Given the description of an element on the screen output the (x, y) to click on. 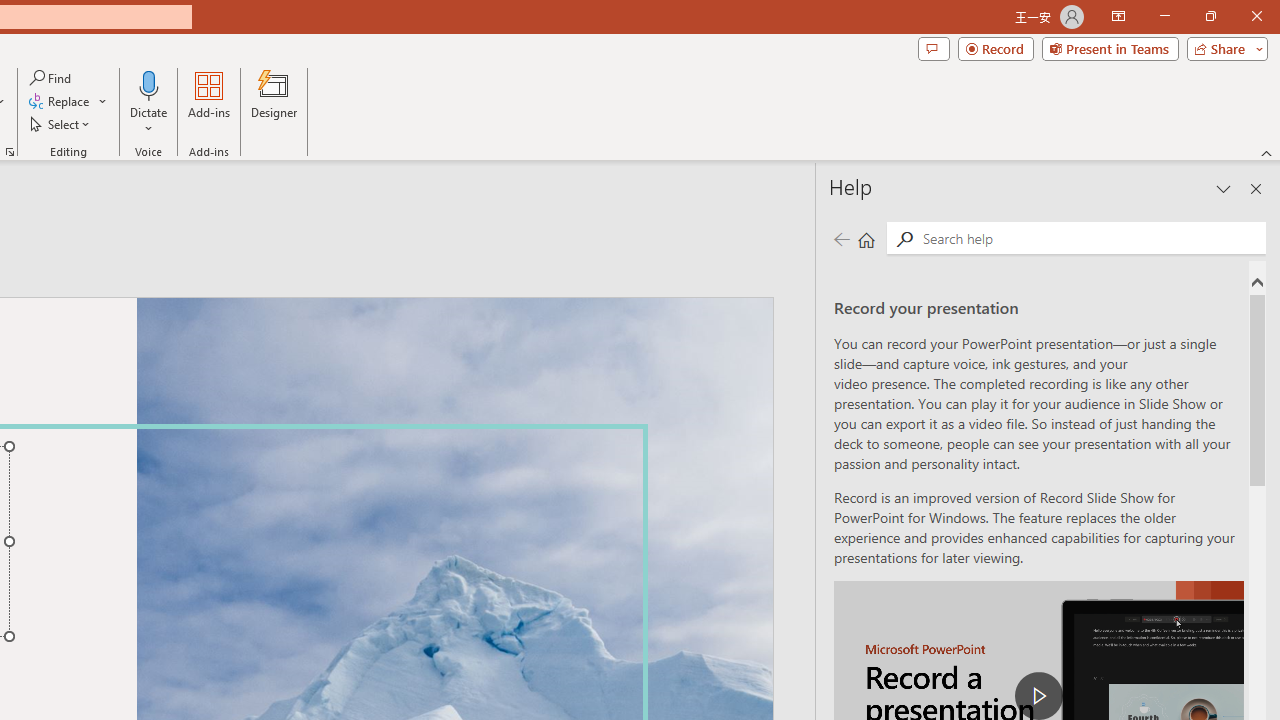
Designer (274, 102)
Select (61, 124)
Search (904, 238)
Search (1089, 237)
play Record a Presentation (1038, 695)
